Given the description of an element on the screen output the (x, y) to click on. 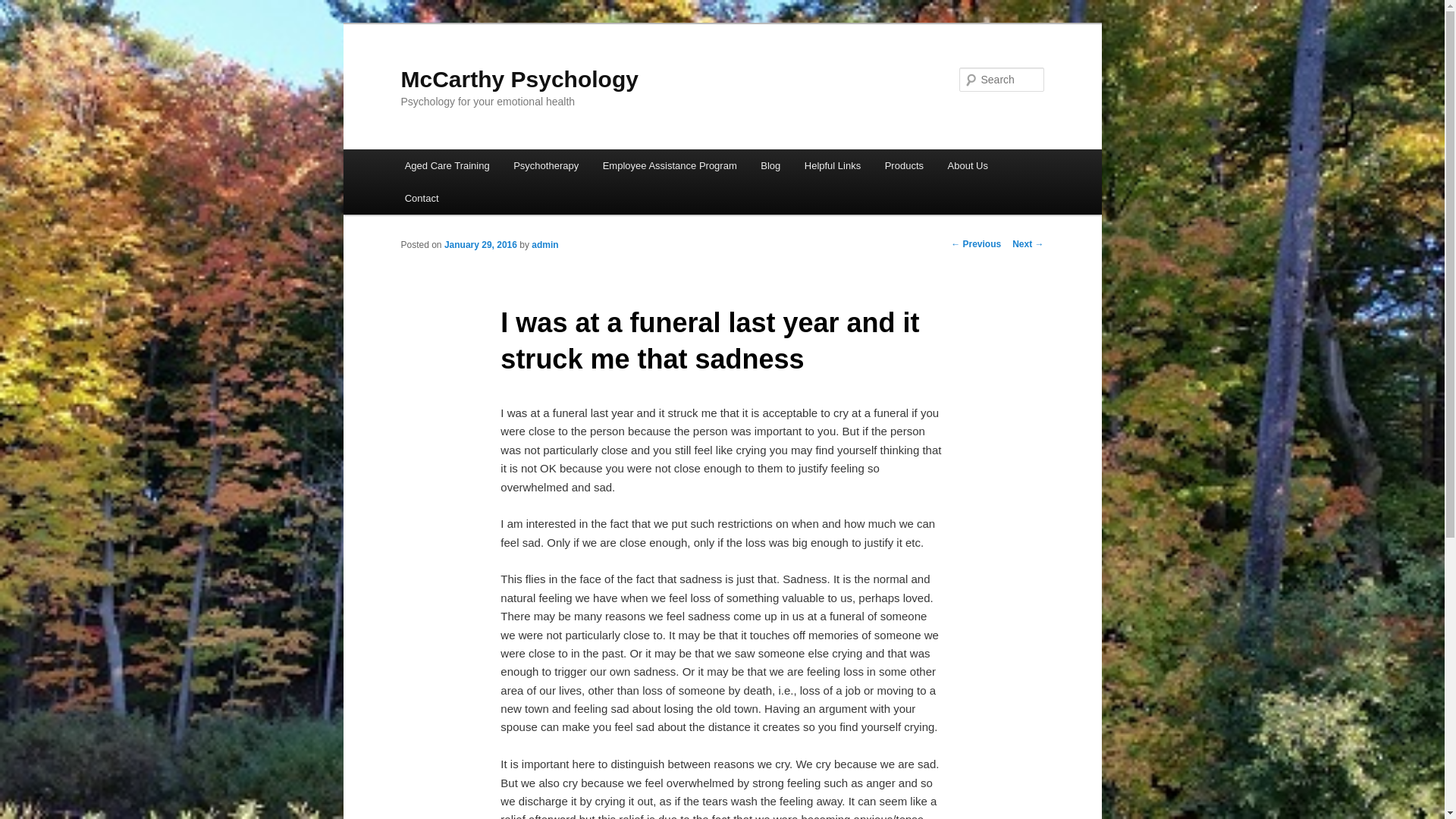
Contact Element type: text (421, 198)
Search Element type: text (24, 8)
Helpful Links Element type: text (832, 165)
admin Element type: text (544, 244)
Psychotherapy Element type: text (545, 165)
January 29, 2016 Element type: text (480, 244)
Blog Element type: text (770, 165)
Aged Care Training Element type: text (447, 165)
Skip to primary content Element type: text (22, 22)
Employee Assistance Program Element type: text (669, 165)
Products Element type: text (903, 165)
McCarthy Psychology Element type: text (518, 78)
About Us Element type: text (967, 165)
